Given the description of an element on the screen output the (x, y) to click on. 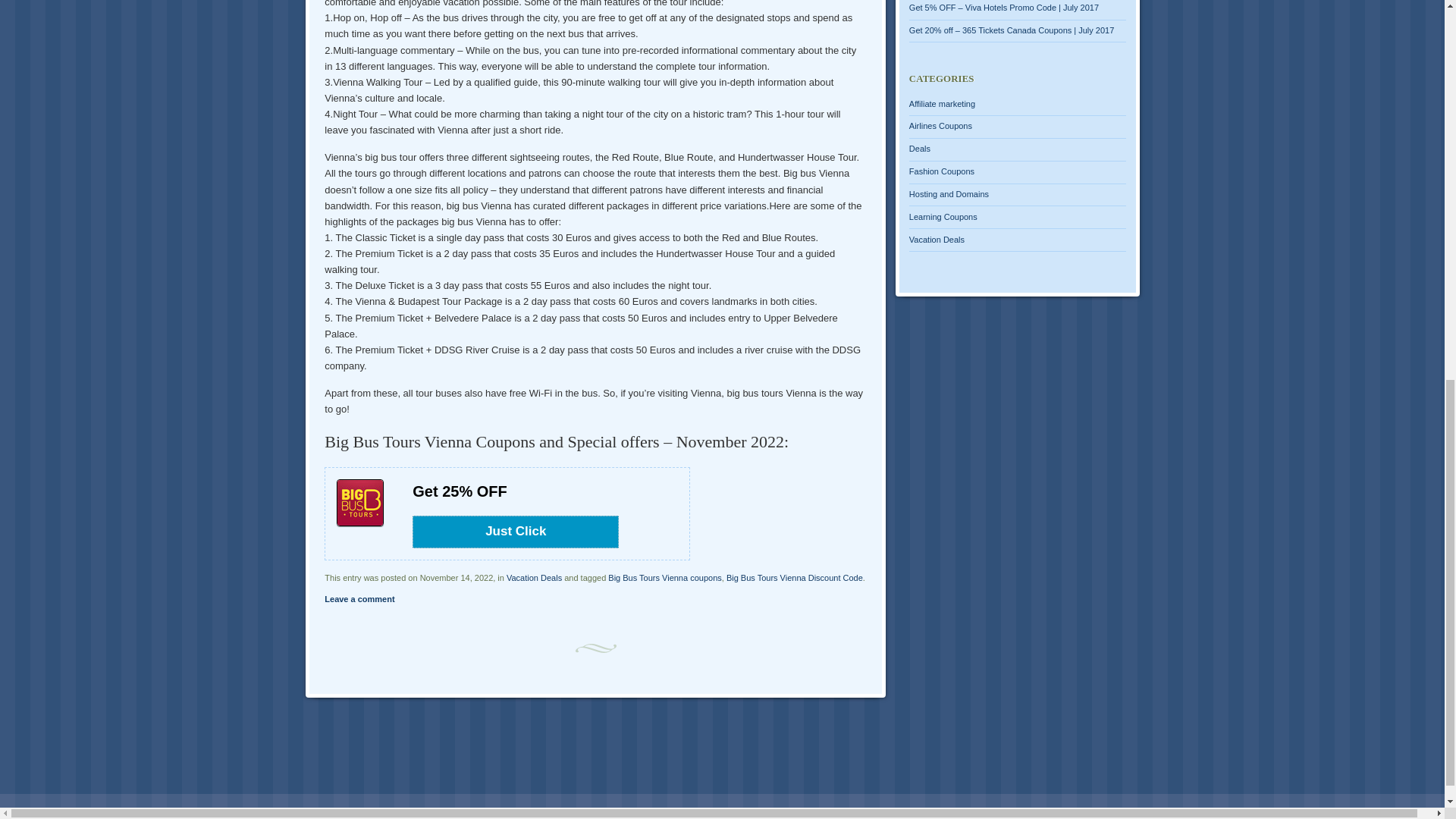
Vacation Deals (534, 577)
Semantic Personal Publishing Platform (264, 809)
Deals (919, 148)
Learning Coupons (942, 216)
Affiliate marketing (941, 103)
Leave a comment (359, 598)
Vacation Deals (935, 239)
Airlines Coupons (940, 125)
Big Bus Tours Vienna Discount Code (794, 577)
Hosting and Domains (948, 194)
